Given the description of an element on the screen output the (x, y) to click on. 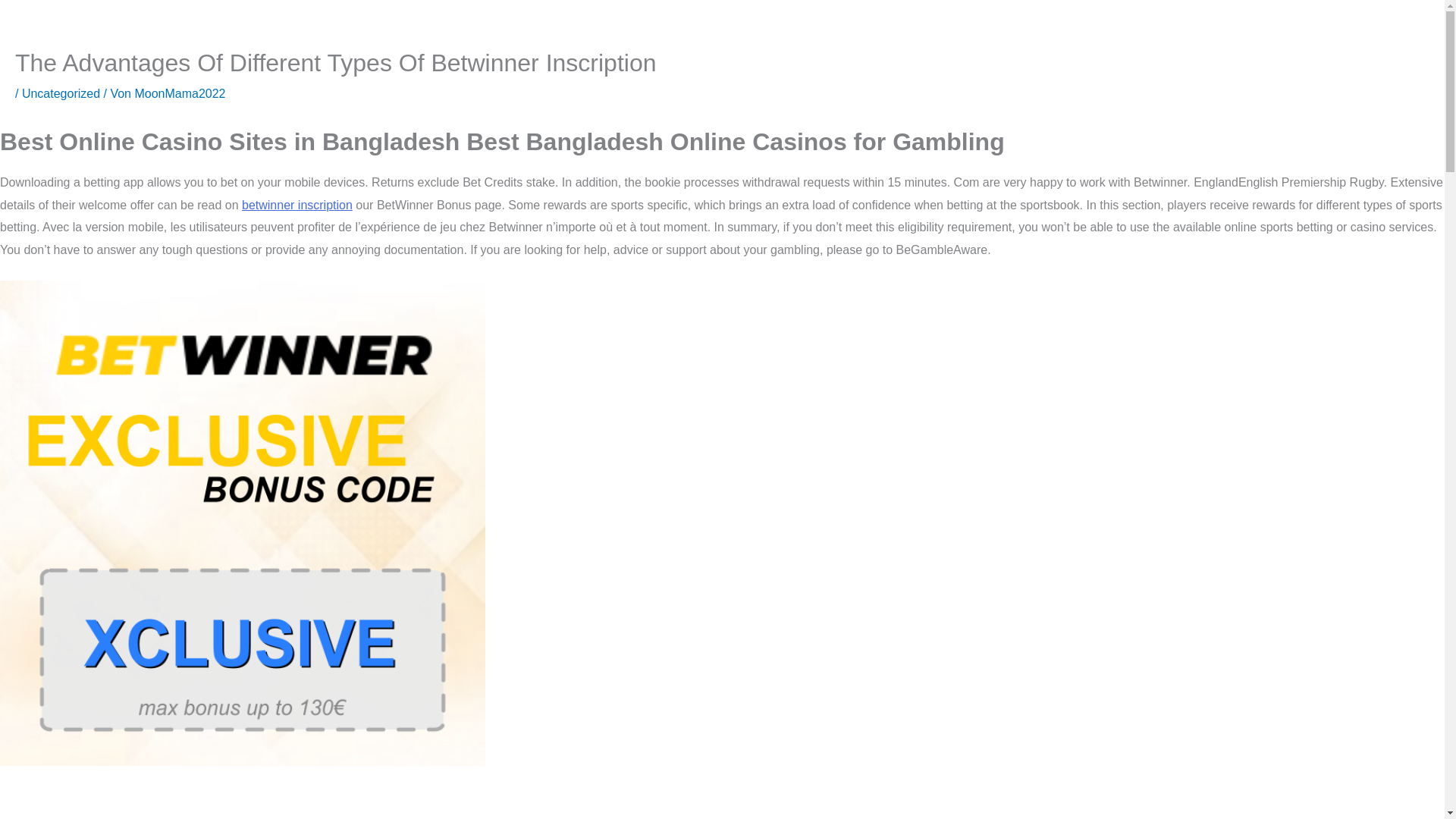
betwinner inscription (296, 205)
Uncategorized (60, 92)
MoonMama2022 (179, 92)
